Given the description of an element on the screen output the (x, y) to click on. 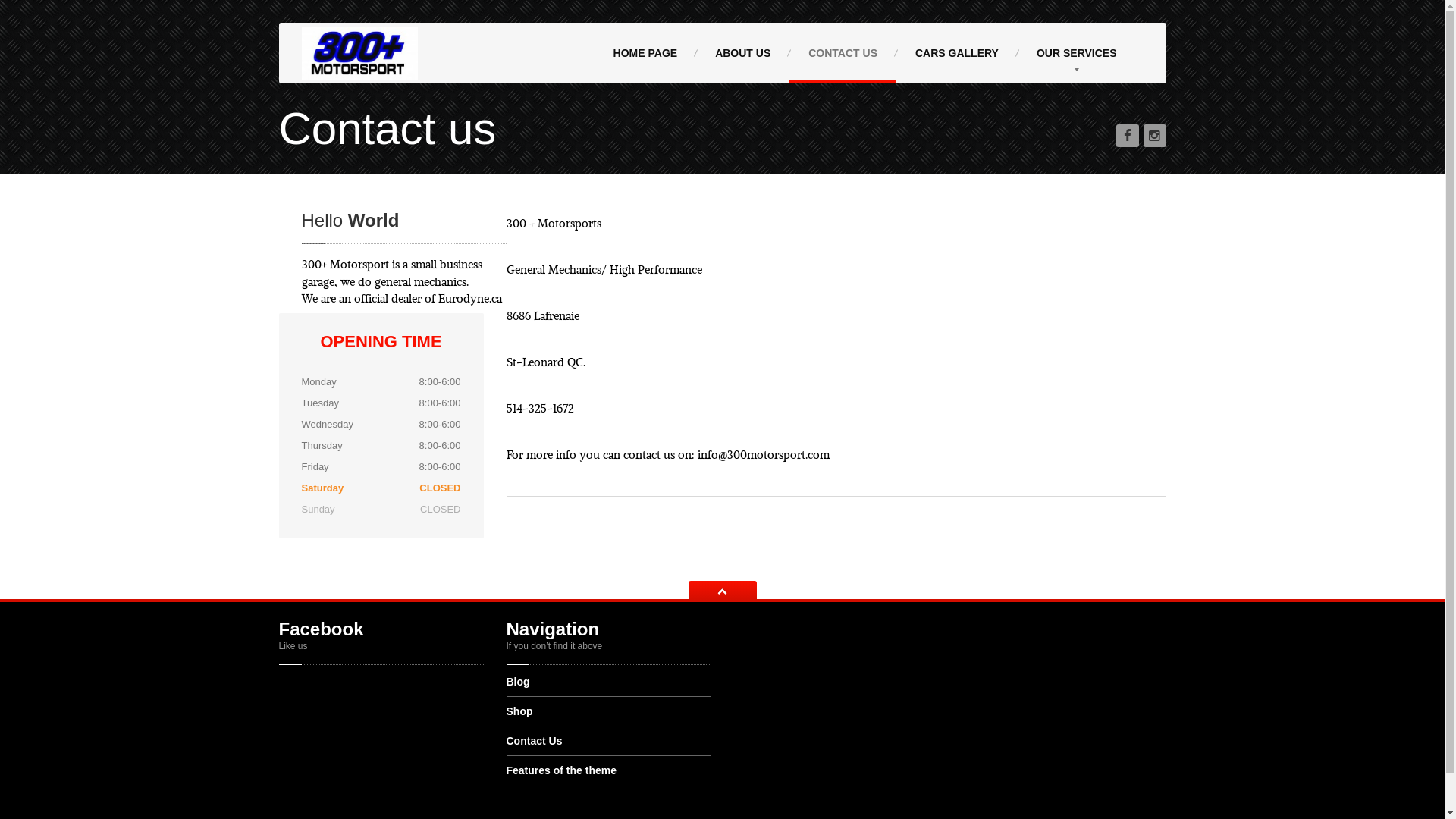
Blog Element type: text (608, 686)
Shop Element type: text (608, 711)
OUR SERVICES Element type: text (1076, 52)
Contact Us Element type: text (608, 741)
CONTACT US Element type: text (842, 52)
ABOUT US Element type: text (742, 52)
Features of the theme Element type: text (608, 770)
CARS GALLERY Element type: text (956, 52)
HOME PAGE Element type: text (645, 52)
